Given the description of an element on the screen output the (x, y) to click on. 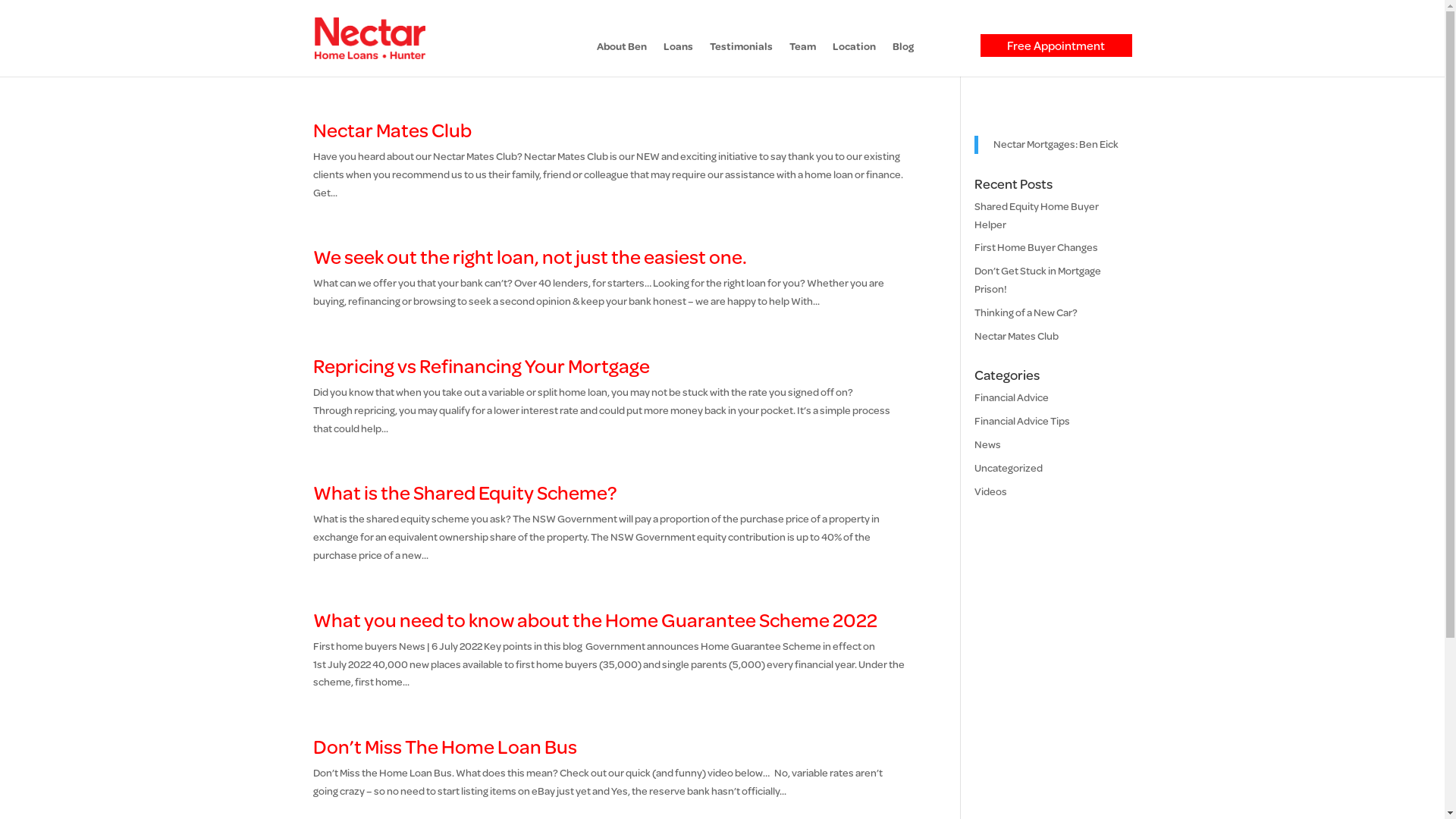
Financial Advice Element type: text (1011, 396)
Thinking of a New Car? Element type: text (1025, 312)
Team Element type: text (801, 58)
News Element type: text (987, 443)
What is the Shared Equity Scheme? Element type: text (463, 492)
Shared Equity Home Buyer Helper Element type: text (1036, 215)
What you need to know about the Home Guarantee Scheme 2022 Element type: text (594, 619)
About Ben Element type: text (621, 58)
Free Appointment Element type: text (1055, 45)
Financial Advice Tips Element type: text (1022, 420)
Nectar Mortgages: Ben Eick Element type: text (1055, 143)
Nectar Mates Club Element type: text (391, 130)
Testimonials Element type: text (740, 58)
Loans Element type: text (677, 58)
First Home Buyer Changes Element type: text (1036, 246)
Location Element type: text (853, 58)
Nectar Mates Club Element type: text (1016, 335)
Blog Element type: text (902, 58)
Repricing vs Refinancing Your Mortgage Element type: text (480, 365)
Uncategorized Element type: text (1008, 467)
We seek out the right loan, not just the easiest one. Element type: text (529, 256)
Videos Element type: text (990, 490)
